Given the description of an element on the screen output the (x, y) to click on. 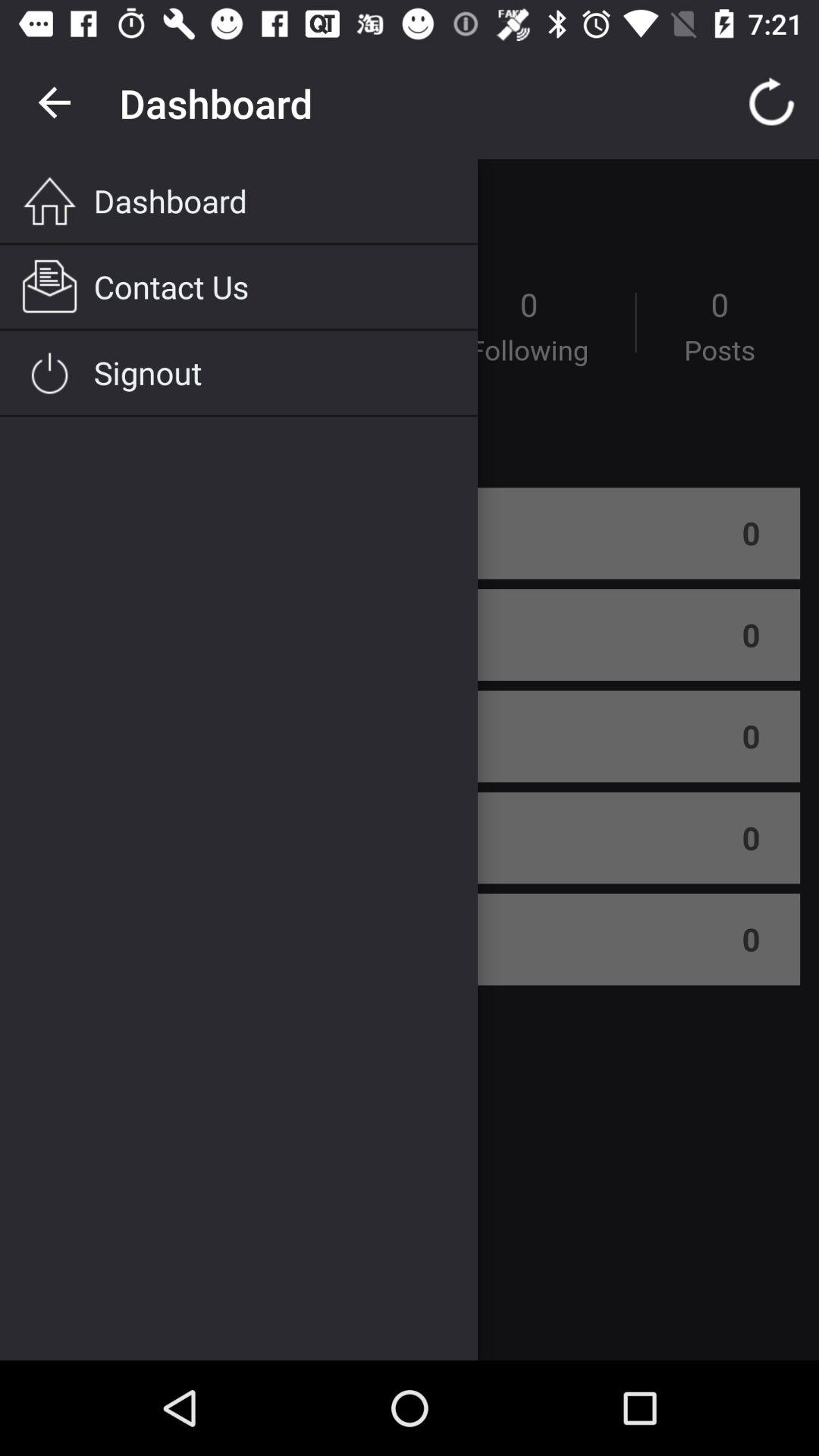
selects the entire dashboard (409, 759)
